Given the description of an element on the screen output the (x, y) to click on. 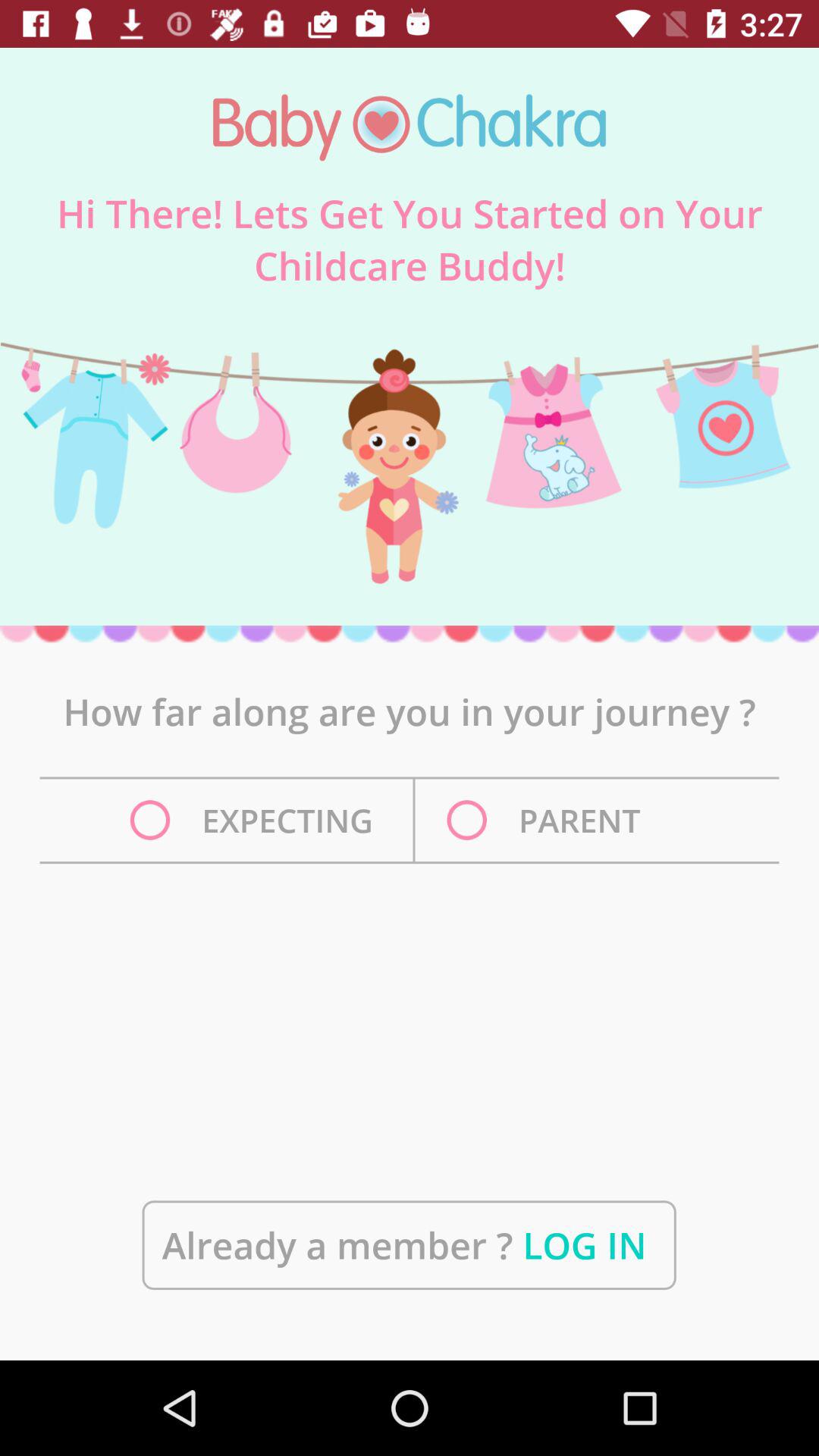
swipe until the expecting icon (255, 820)
